Given the description of an element on the screen output the (x, y) to click on. 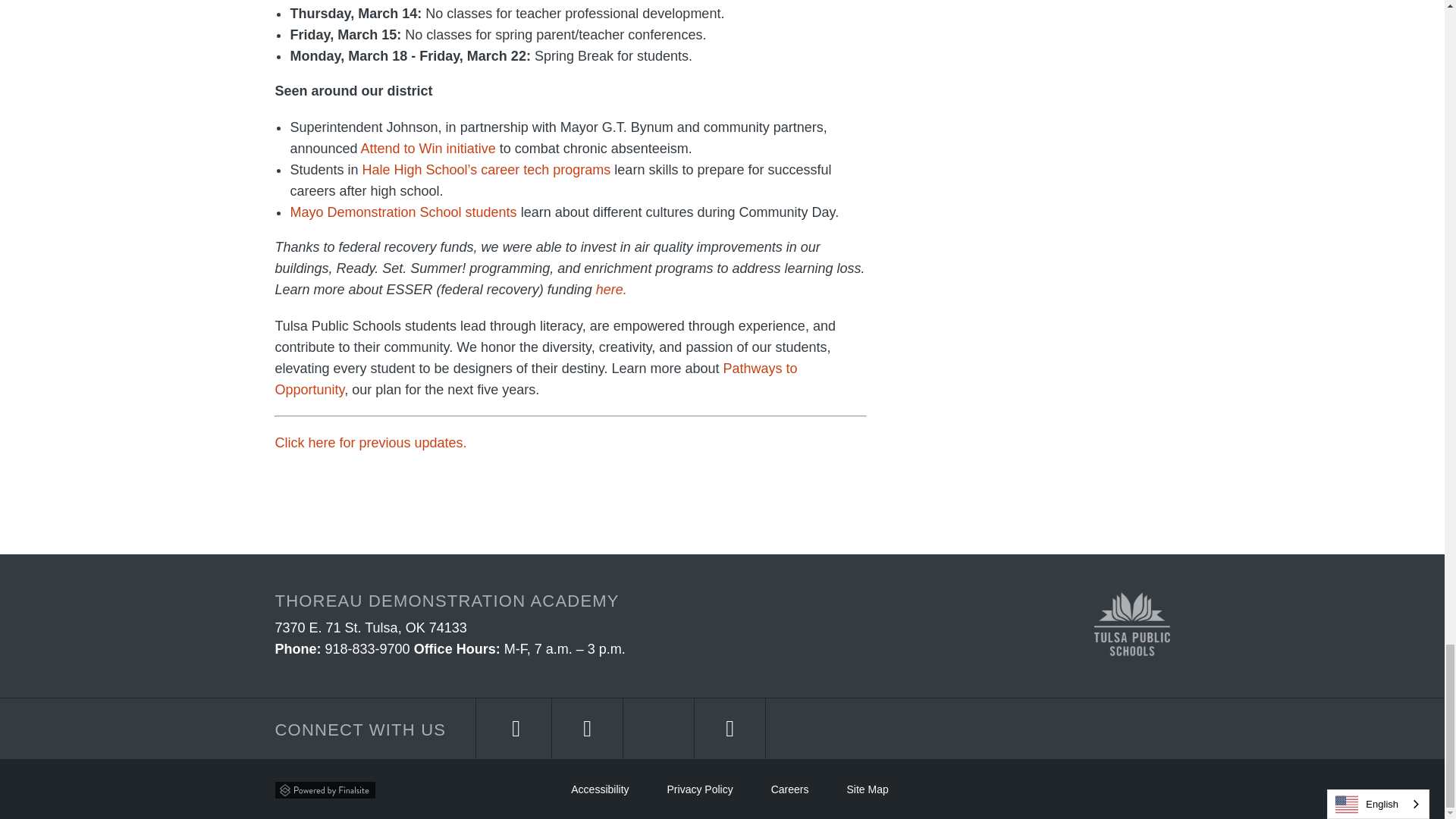
Powered by Finalsite opens in a new window (325, 788)
